Given the description of an element on the screen output the (x, y) to click on. 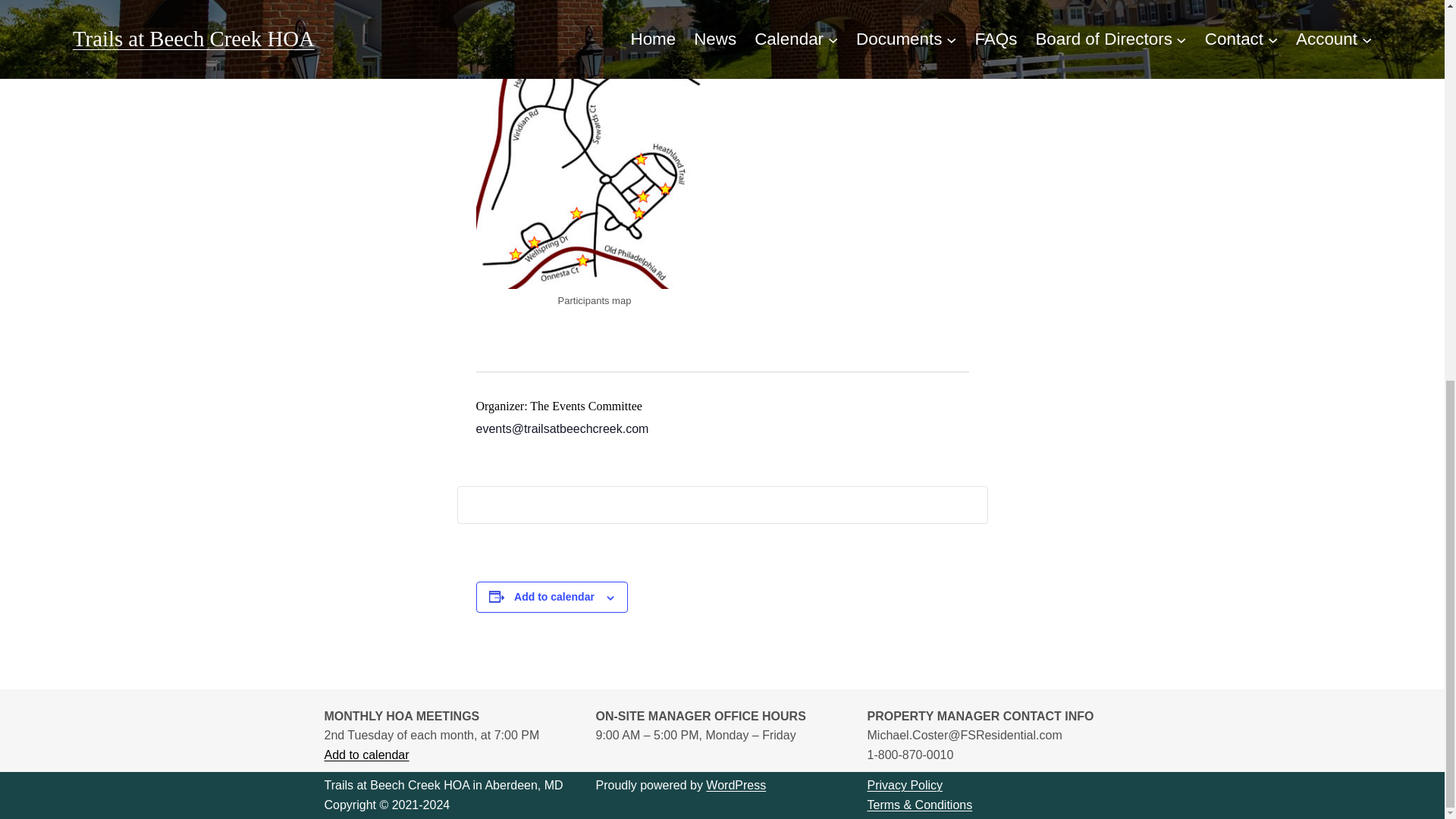
Privacy Policy (905, 784)
WordPress (735, 784)
Add to calendar (366, 754)
Add to calendar (553, 596)
